Given the description of an element on the screen output the (x, y) to click on. 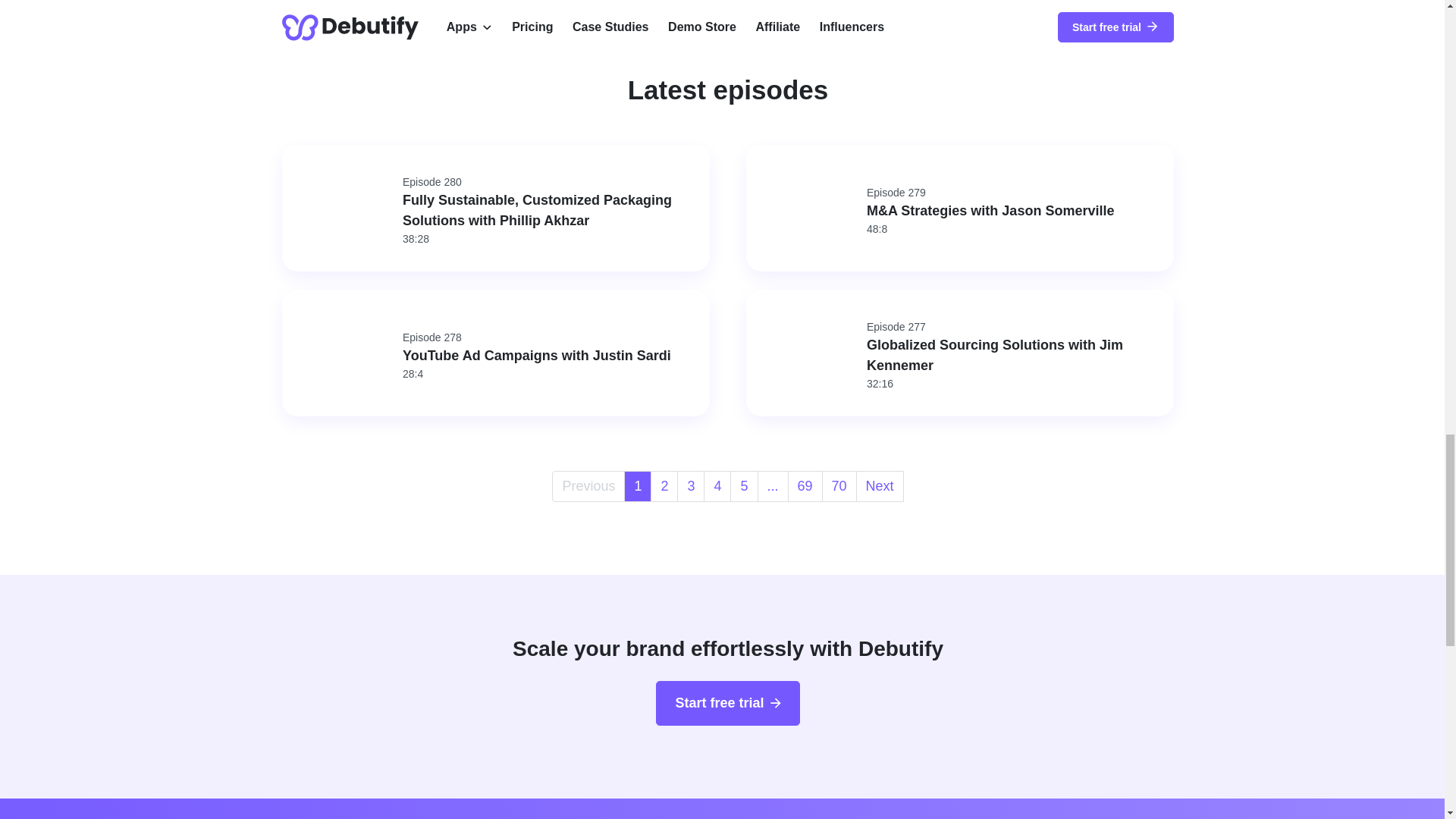
69 (550, 355)
... (804, 485)
Previous (772, 485)
70 (587, 485)
